Given the description of an element on the screen output the (x, y) to click on. 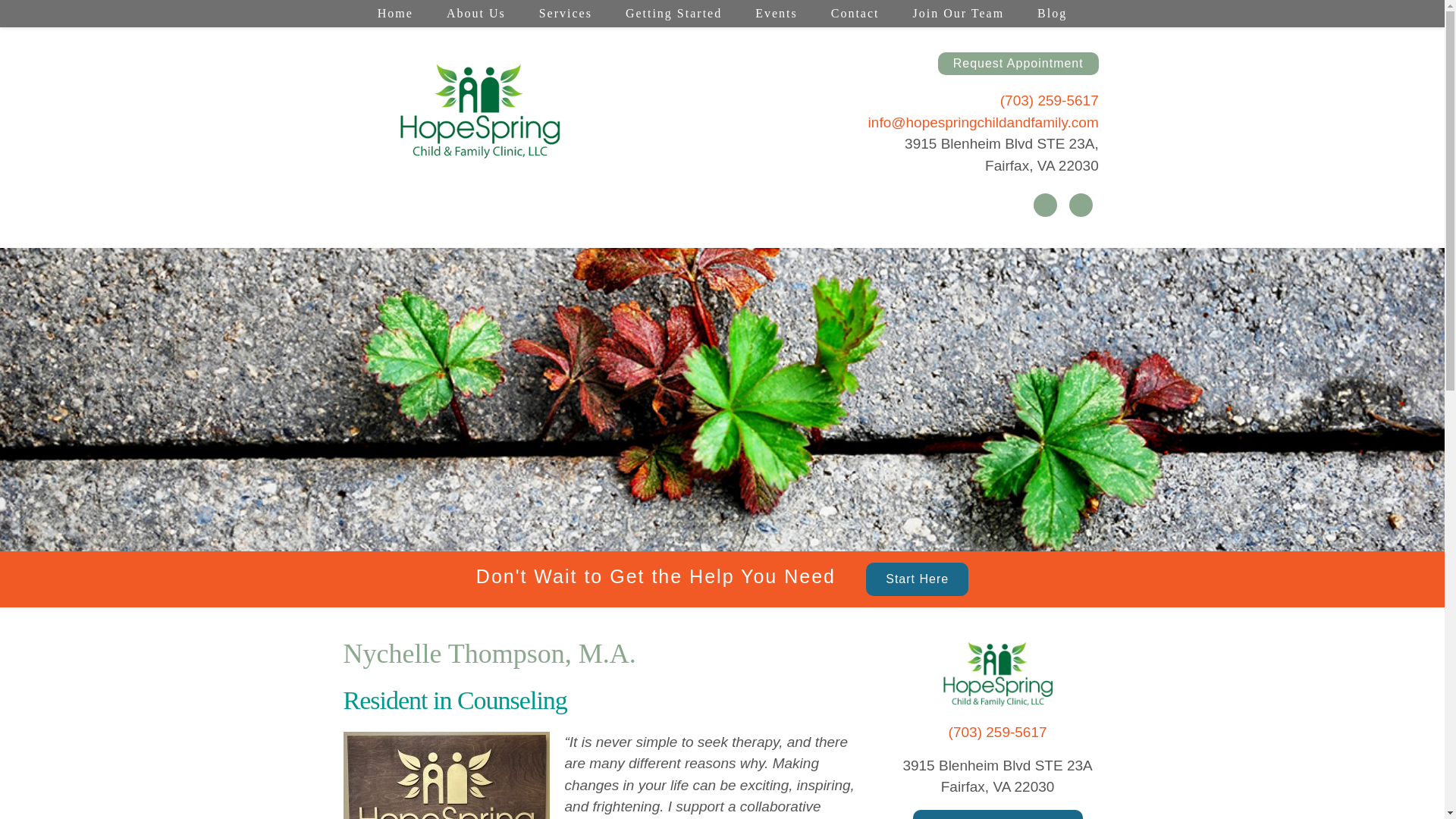
Join Our Team (959, 13)
Request Appointment (997, 814)
Blog (1051, 13)
Request Appointment (1018, 63)
Getting Started (673, 13)
About Us (475, 13)
Start Here (917, 579)
Services (565, 13)
Contact (854, 13)
Home (395, 13)
Events (775, 13)
